Given the description of an element on the screen output the (x, y) to click on. 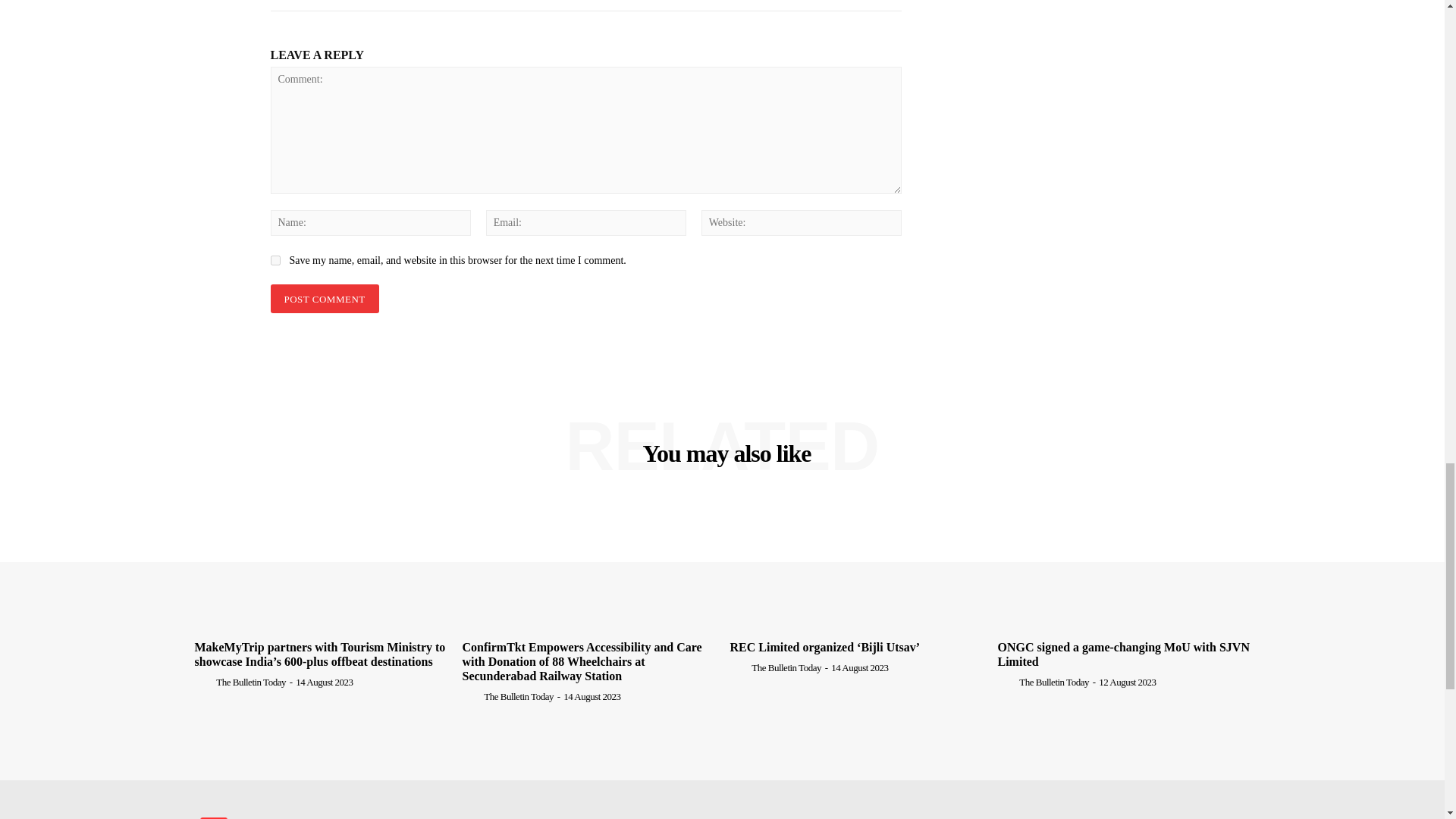
yes (274, 260)
Post Comment (323, 298)
